Given the description of an element on the screen output the (x, y) to click on. 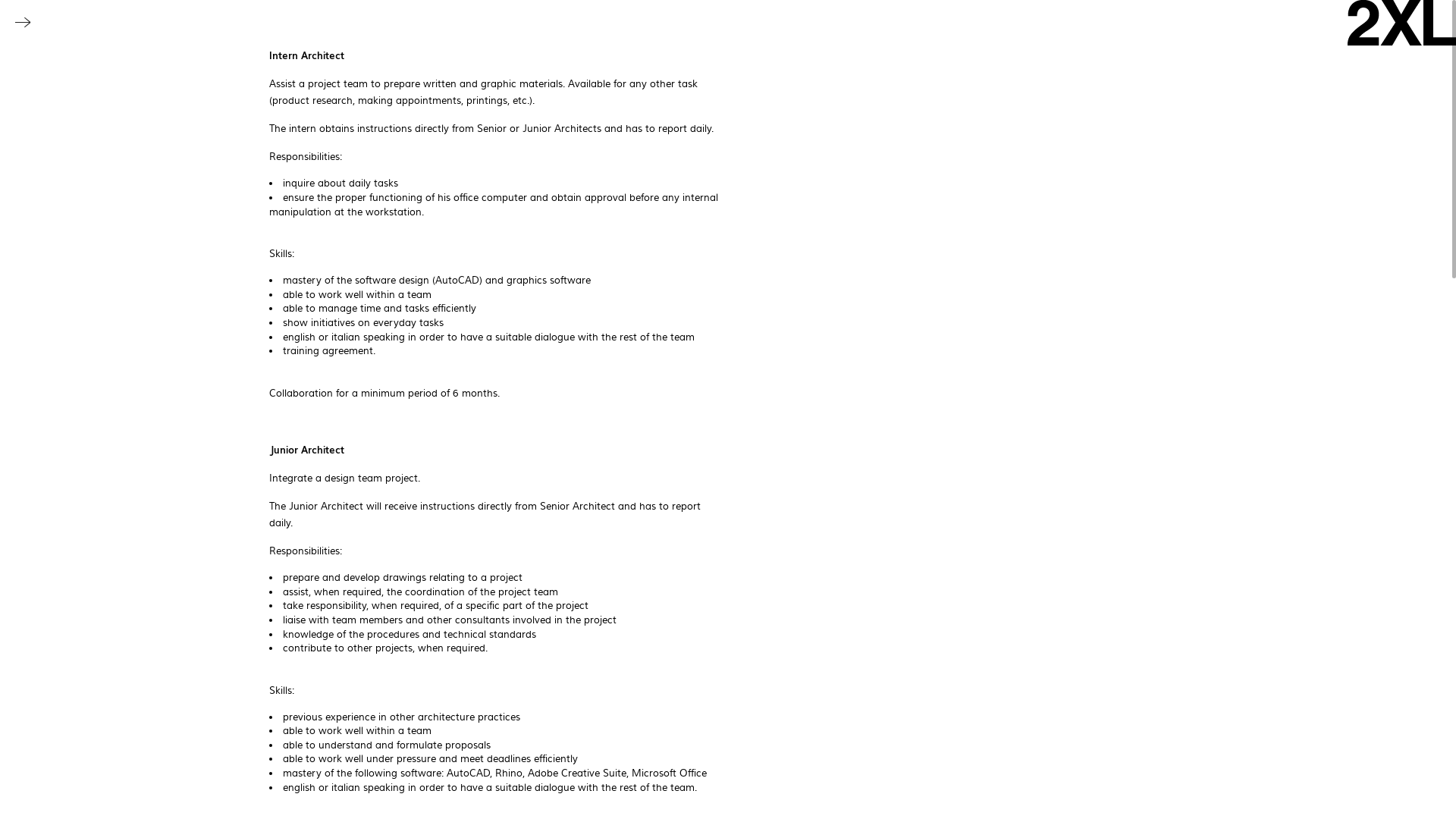
Toggle navigation Element type: text (22, 22)
